Given the description of an element on the screen output the (x, y) to click on. 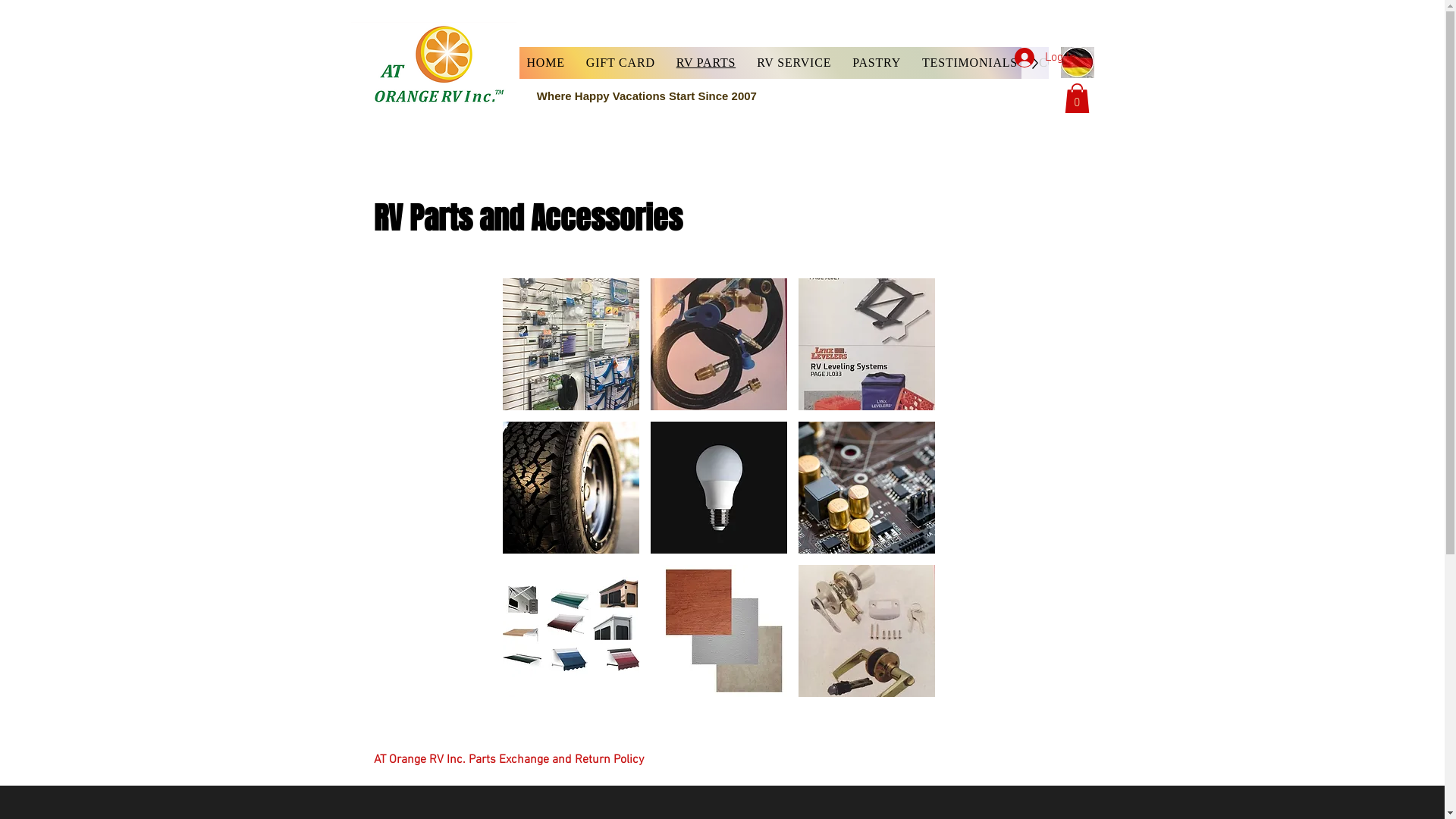
GIFT CARD Element type: text (620, 62)
0 Element type: text (1076, 97)
PASTRY Element type: text (876, 62)
BOOK ONLINE Element type: text (1257, 62)
Log In Element type: text (1045, 57)
uy 390.PNG Element type: hover (432, 66)
HOME Element type: text (544, 62)
TESTIMONIALS Element type: text (969, 62)
RV PARTS Element type: text (705, 62)
CONTACT Element type: text (1069, 62)
RV SERVICE Element type: text (793, 62)
ICE CREAM Element type: text (1156, 62)
